Given the description of an element on the screen output the (x, y) to click on. 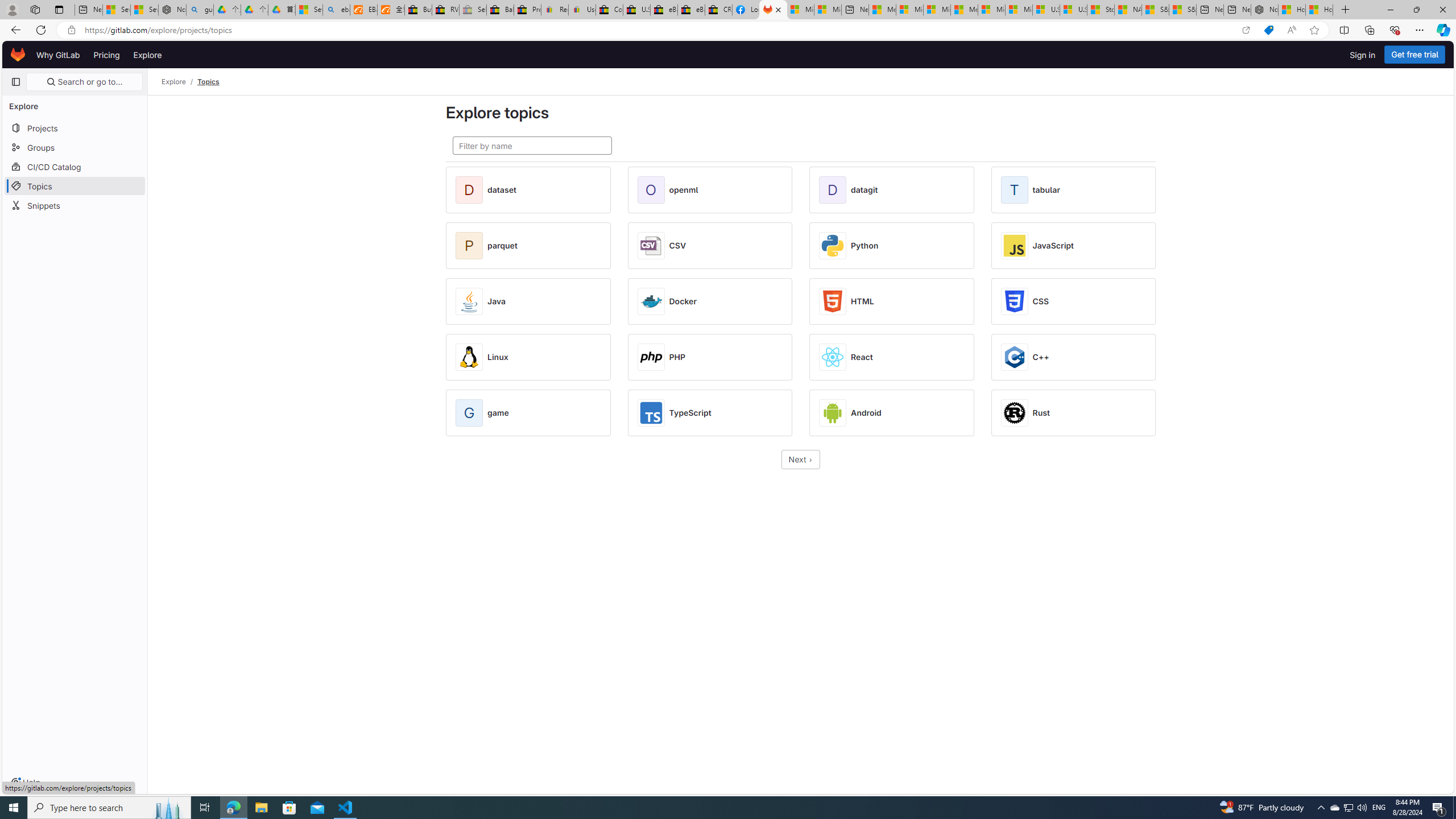
JavaScript (1053, 245)
Linux (497, 356)
dataset (501, 189)
Snippets (74, 205)
TypeScript (689, 412)
Groups (74, 147)
Next  (800, 459)
Register: Create a personal eBay account (554, 9)
Docker (682, 301)
Press Room - eBay Inc. (527, 9)
Sell worldwide with eBay - Sleeping (473, 9)
